Given the description of an element on the screen output the (x, y) to click on. 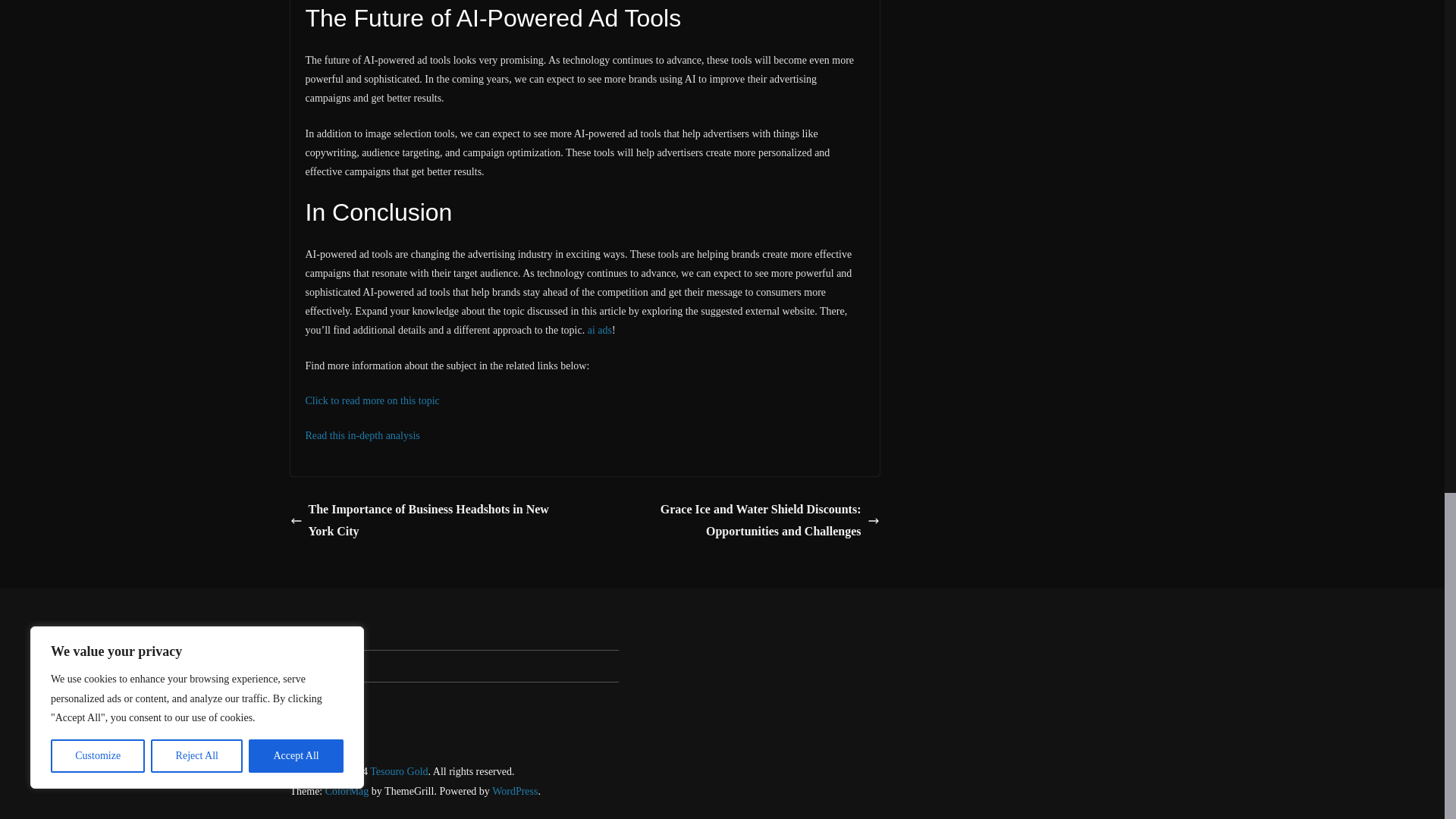
WordPress (514, 790)
ai ads (599, 329)
Click to read more on this topic (371, 400)
ColorMag (346, 790)
Tesouro Gold (398, 771)
The Importance of Business Headshots in New York City (432, 520)
Read this in-depth analysis (361, 435)
